Given the description of an element on the screen output the (x, y) to click on. 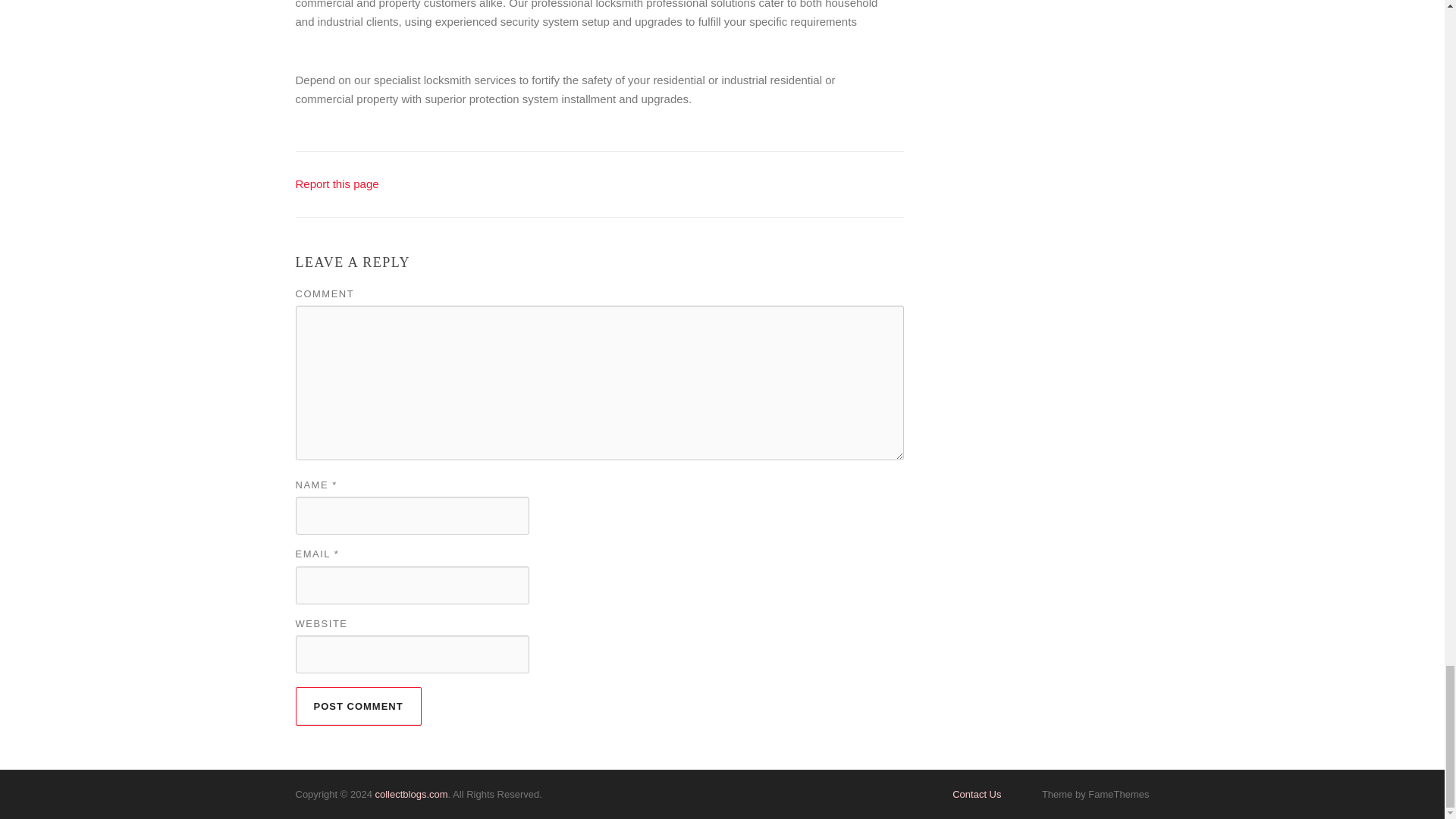
Report this page (336, 183)
Post Comment (358, 706)
Post Comment (358, 706)
